Given the description of an element on the screen output the (x, y) to click on. 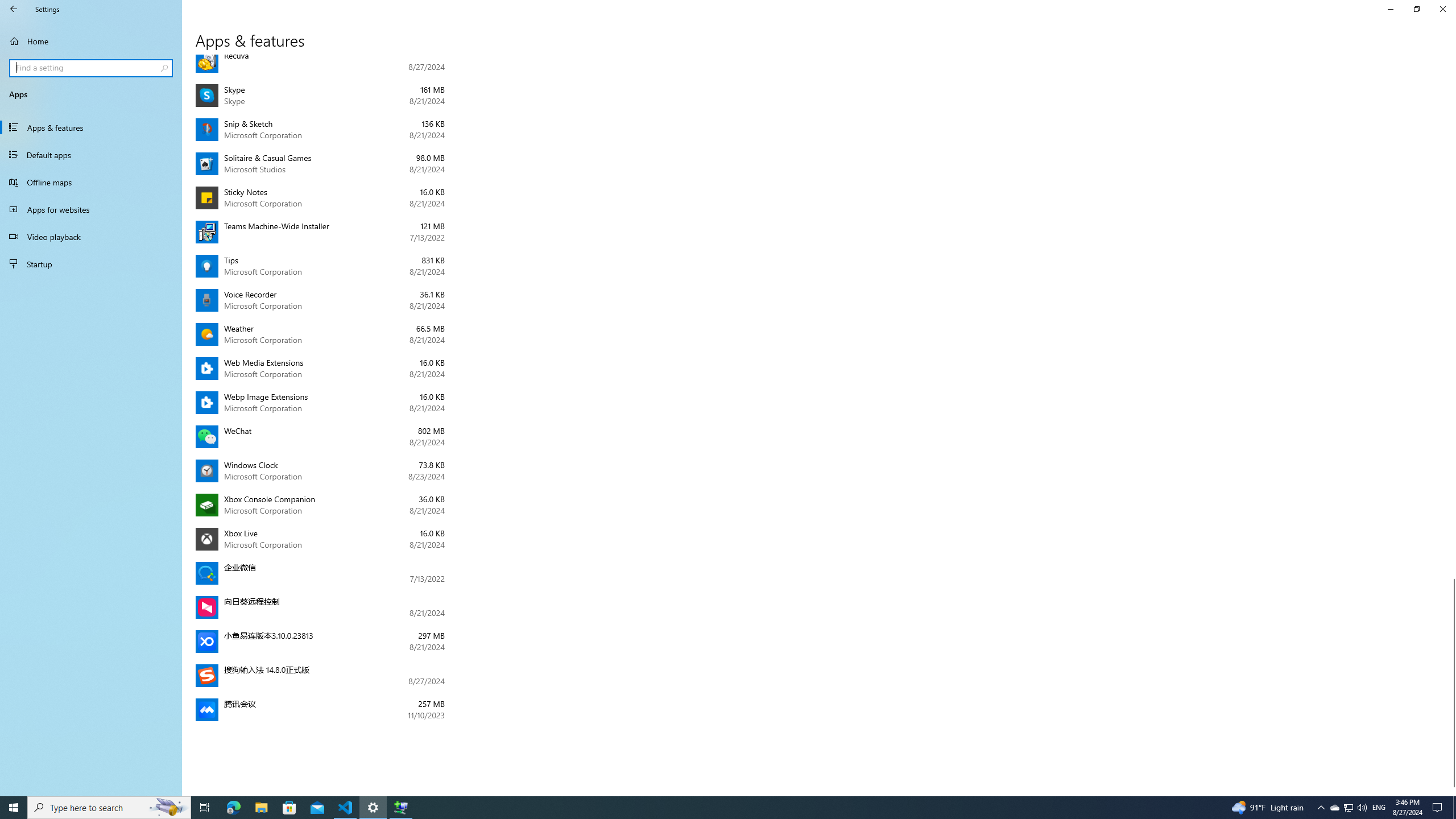
Offline maps (91, 181)
Task View (1347, 807)
Vertical Large Decrease (204, 807)
Start (1451, 321)
User Promoted Notification Area (13, 807)
Vertical Small Decrease (1347, 807)
Search box, Find a setting (1451, 58)
Minimize Settings (91, 67)
Back (1390, 9)
